Given the description of an element on the screen output the (x, y) to click on. 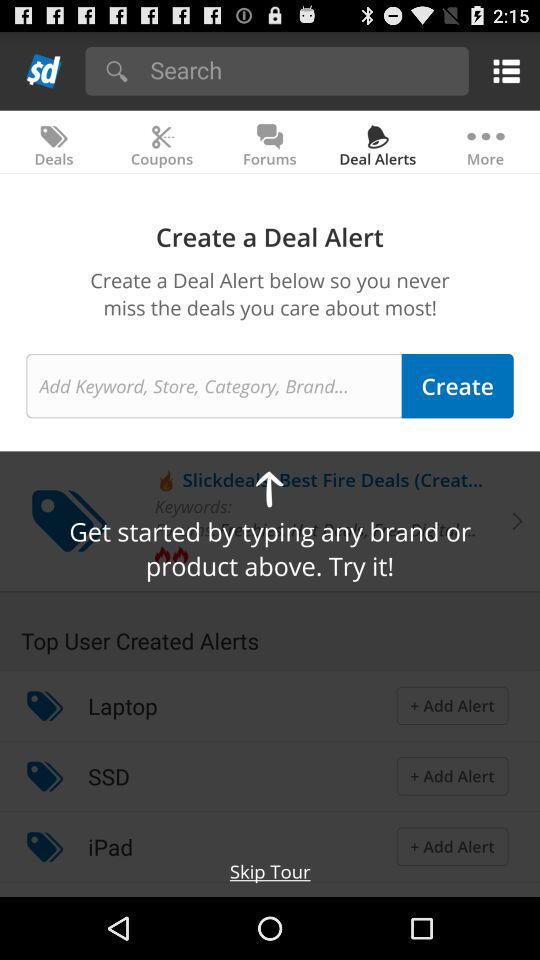
choose ipad app (110, 846)
